Given the description of an element on the screen output the (x, y) to click on. 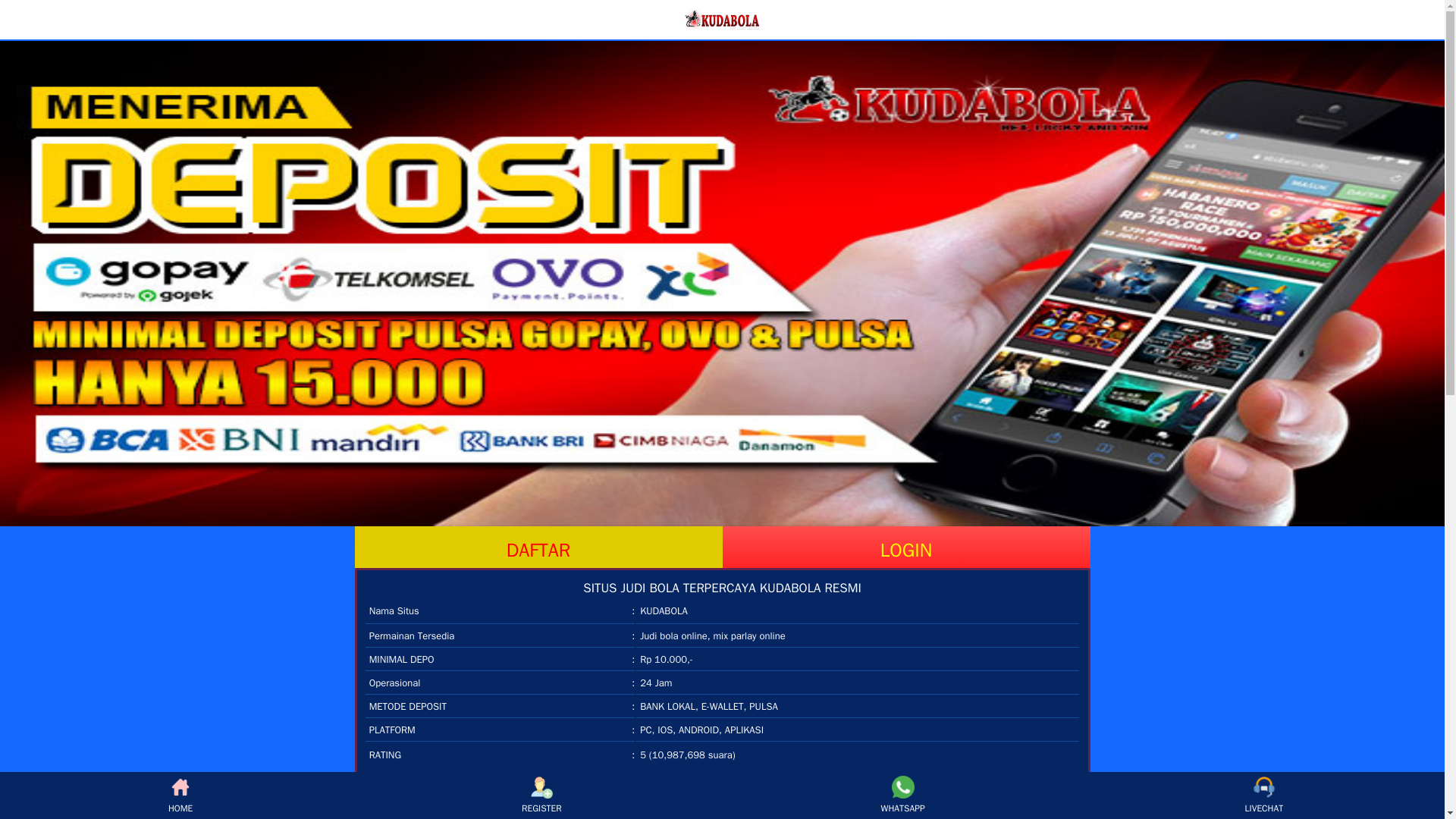
DAFTAR (538, 547)
LOGIN (905, 547)
REGISTER (541, 794)
LIVECHAT (1263, 794)
HOME (180, 794)
WHATSAPP (903, 794)
